Given the description of an element on the screen output the (x, y) to click on. 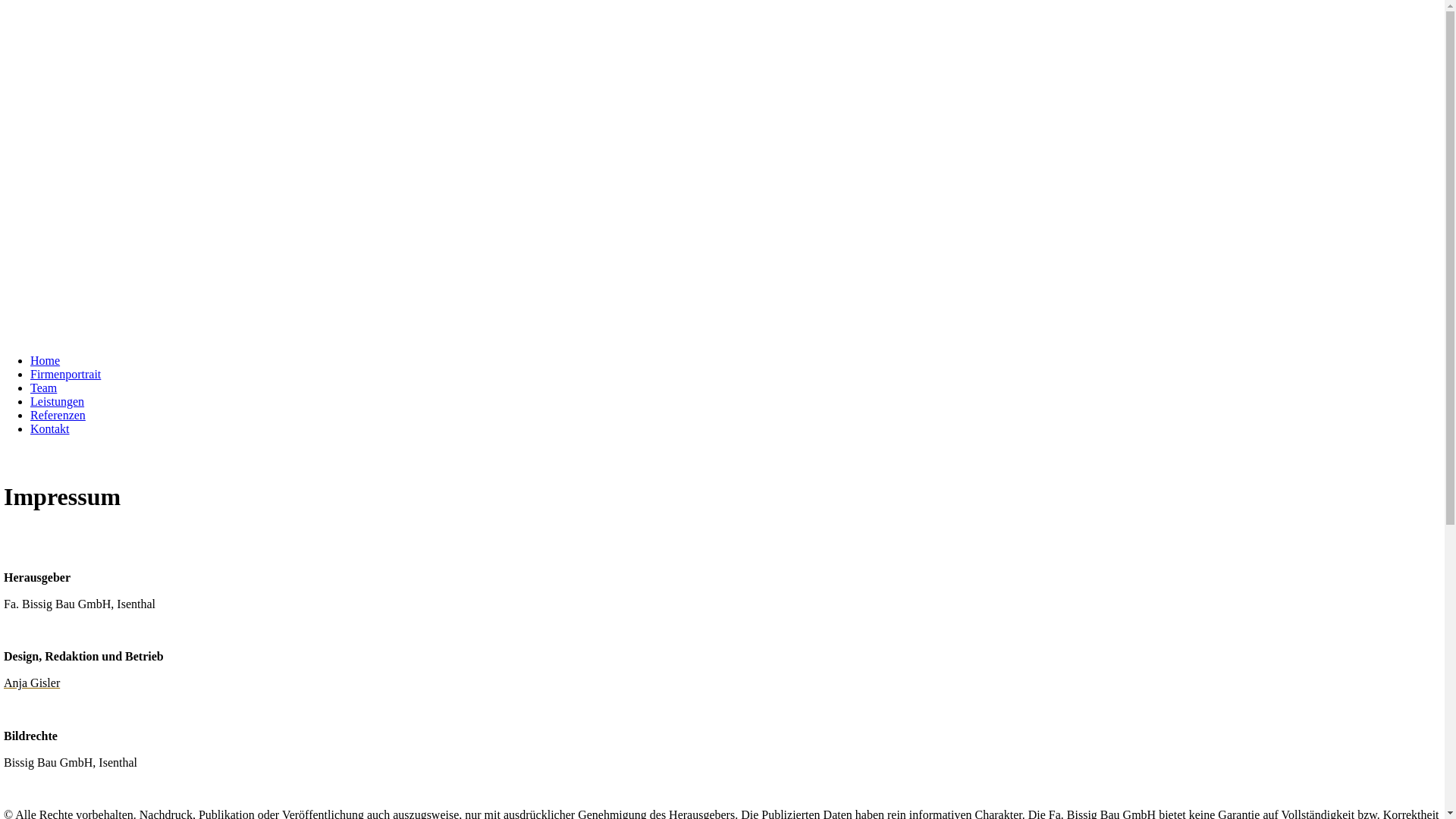
Anja Gisler Element type: text (31, 682)
Team Element type: text (43, 387)
Leistungen Element type: text (57, 401)
Kontakt Element type: text (49, 428)
Home Element type: text (44, 360)
Referenzen Element type: text (57, 414)
Firmenportrait Element type: text (65, 373)
